Given the description of an element on the screen output the (x, y) to click on. 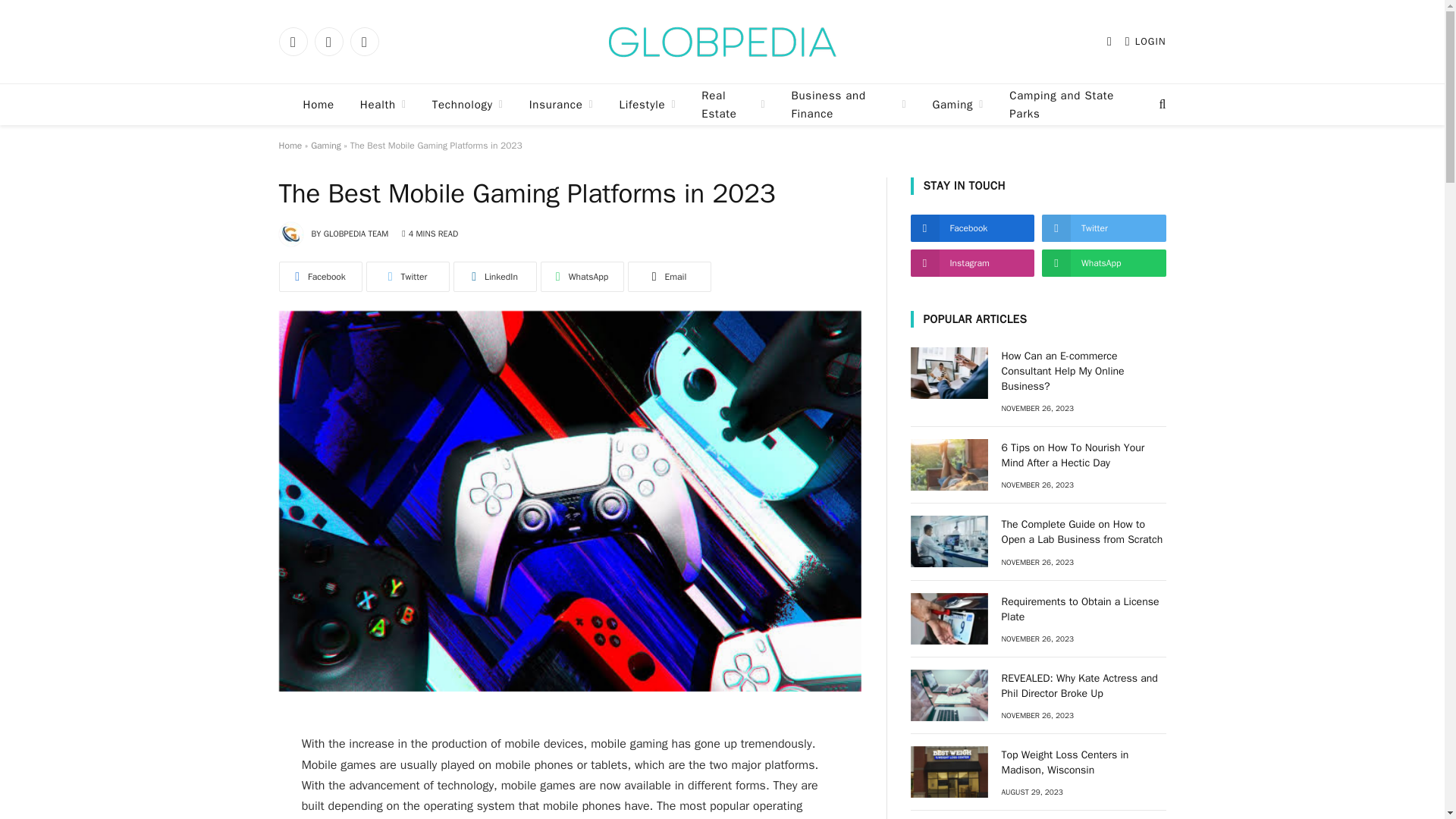
Health (383, 104)
Twitter (328, 41)
Instagram (364, 41)
Globpedia (721, 41)
Switch to Dark Design - easier on eyes. (1109, 41)
Insurance (561, 104)
LOGIN (1145, 41)
Facebook (293, 41)
Home (317, 104)
Technology (467, 104)
